Given the description of an element on the screen output the (x, y) to click on. 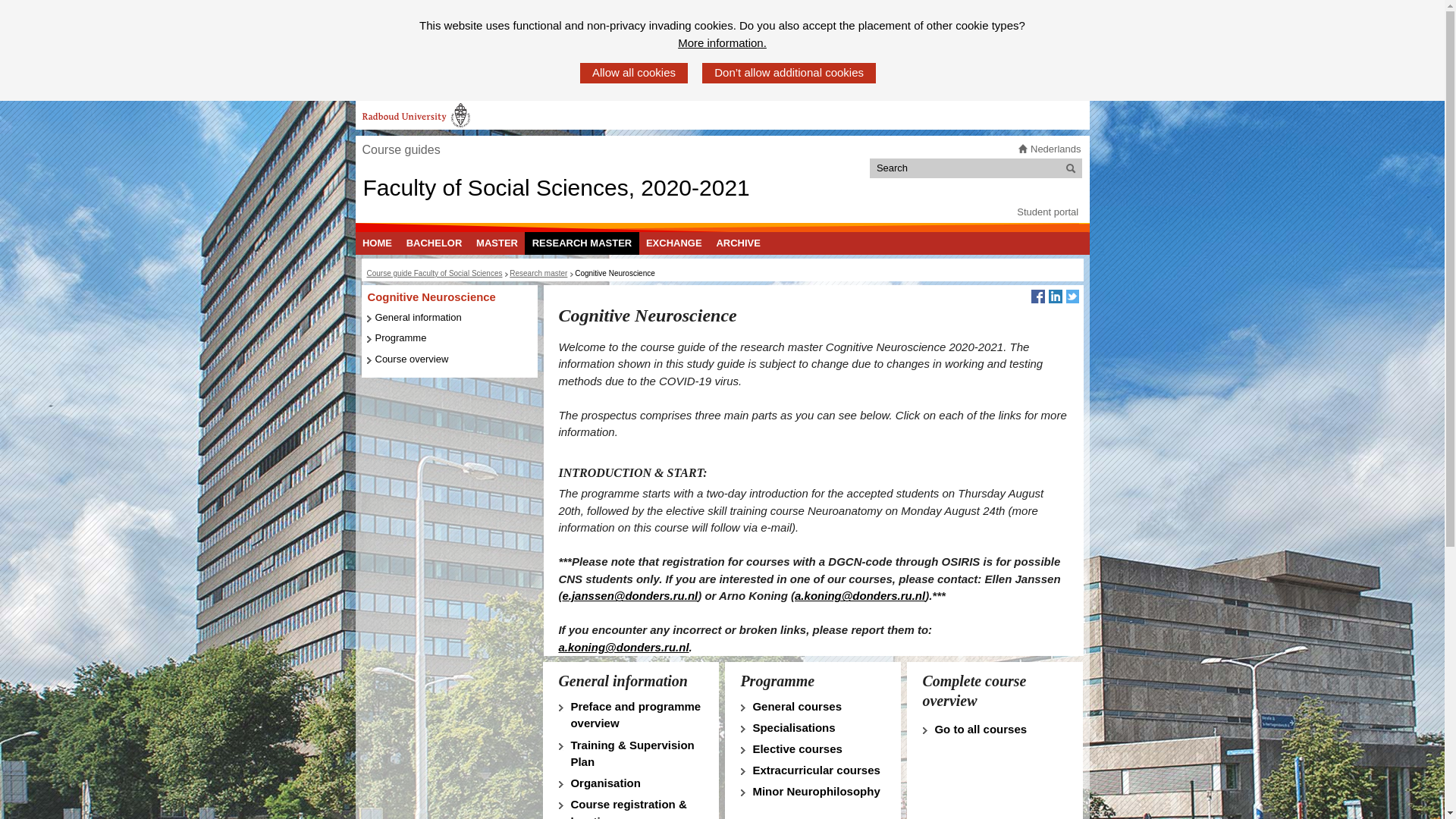
Course guides (400, 149)
Faculty of Social Sciences, 2020-2021 (555, 187)
Search (1070, 168)
BACHELOR (434, 243)
Student portal (1047, 211)
Allow all cookies (633, 73)
Nederlands (1055, 149)
Radboud University (415, 115)
HOME (376, 243)
More information. (722, 43)
Allow all cookies (633, 73)
